Given the description of an element on the screen output the (x, y) to click on. 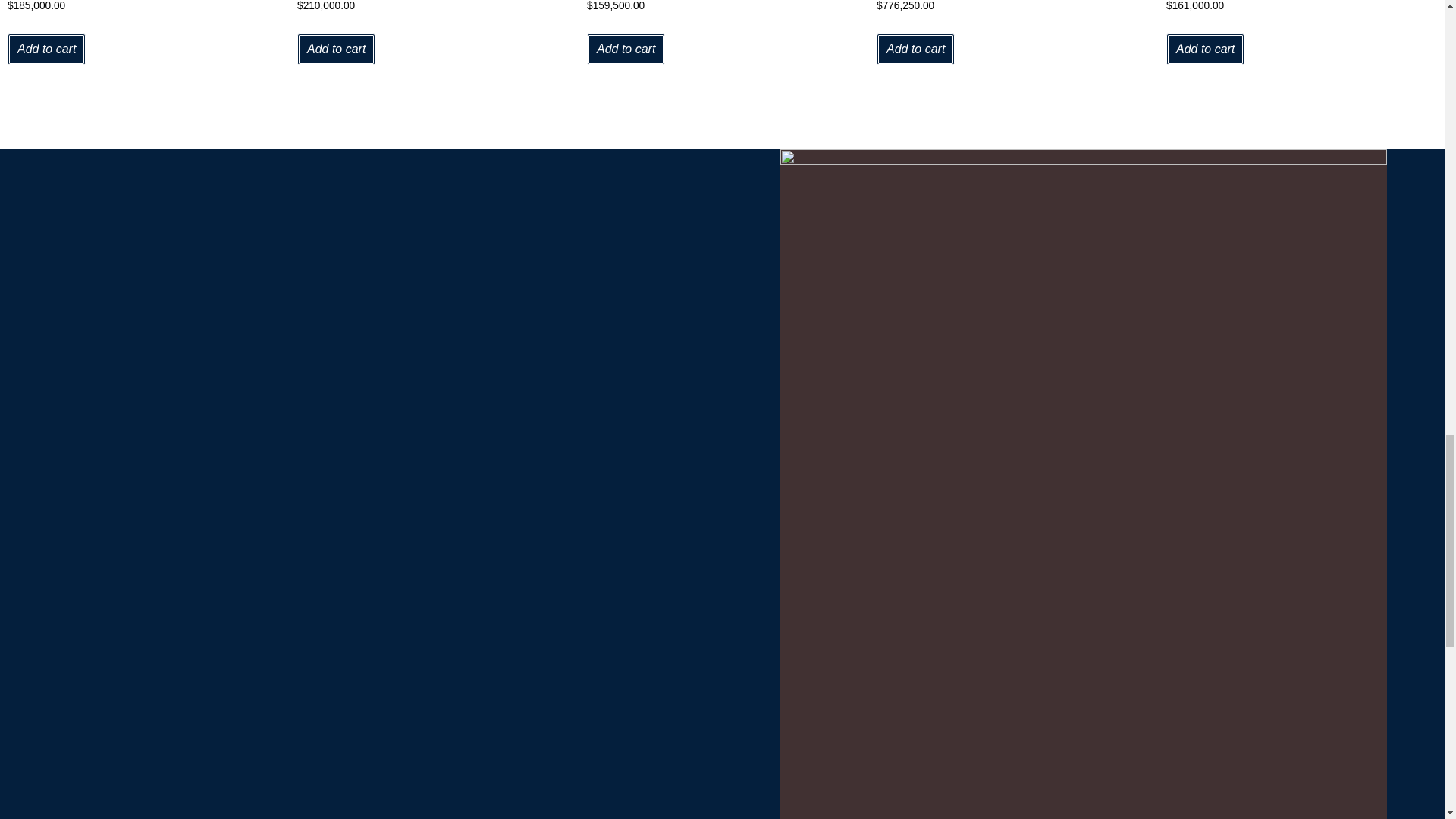
Add to cart (46, 49)
